Given the description of an element on the screen output the (x, y) to click on. 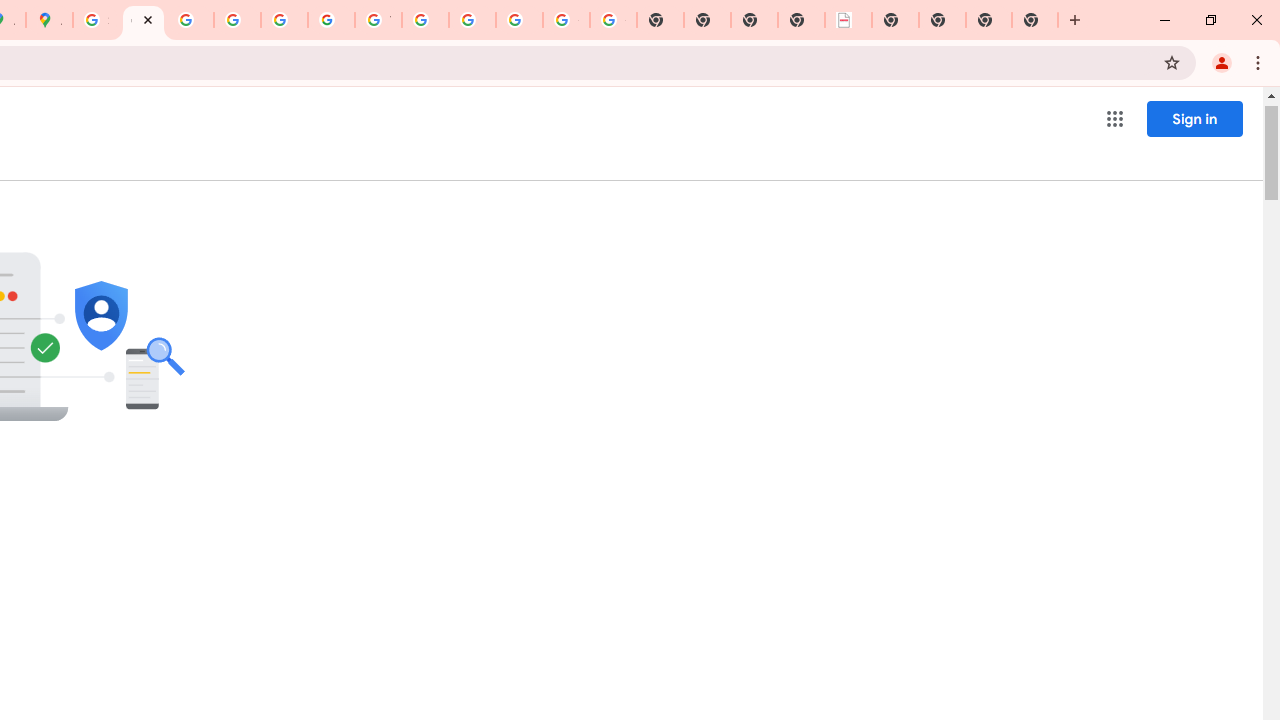
Privacy Help Center - Policies Help (189, 20)
New Tab (895, 20)
New Tab (989, 20)
YouTube (377, 20)
